Given the description of an element on the screen output the (x, y) to click on. 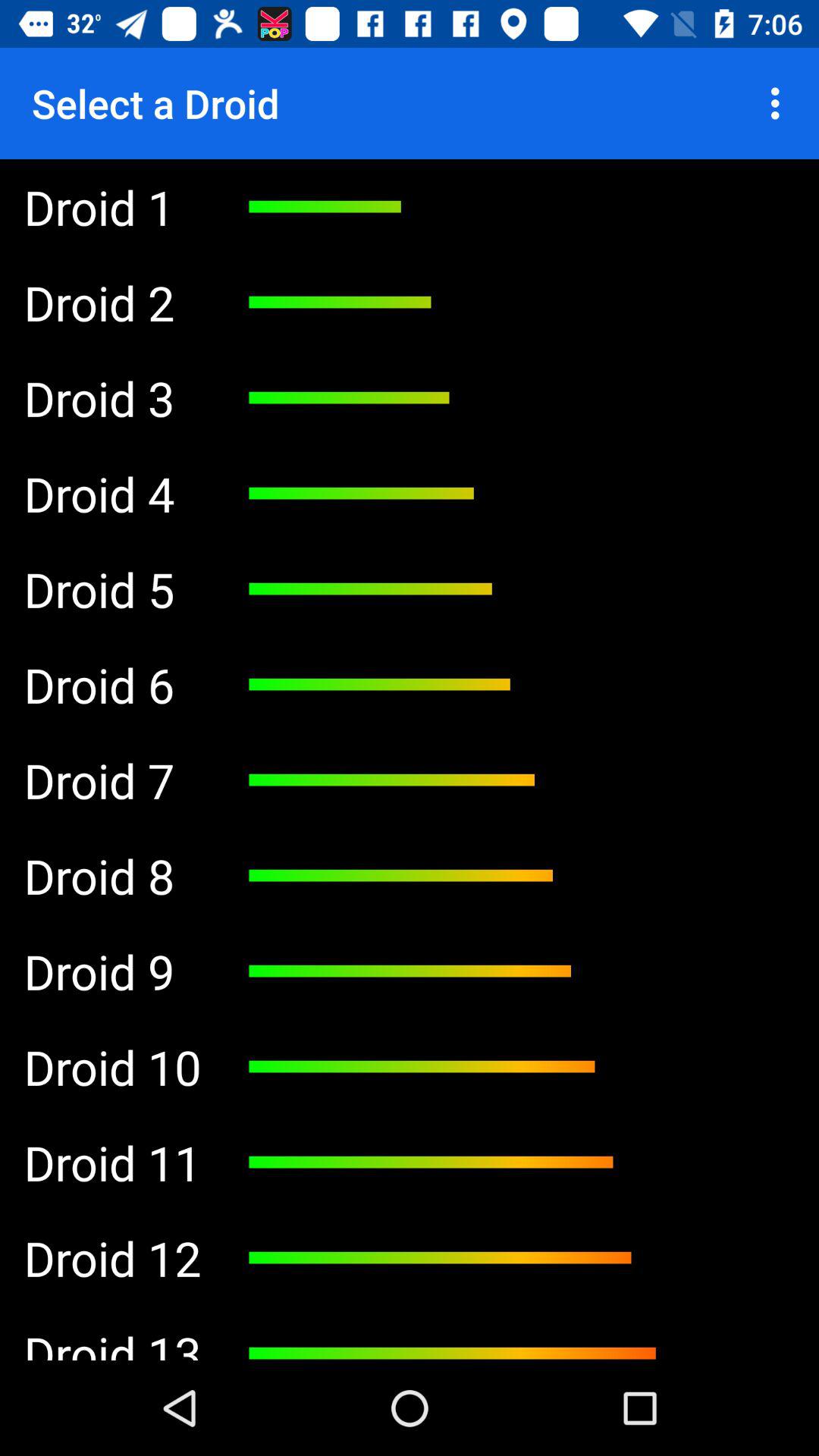
flip until droid 7 (112, 780)
